Given the description of an element on the screen output the (x, y) to click on. 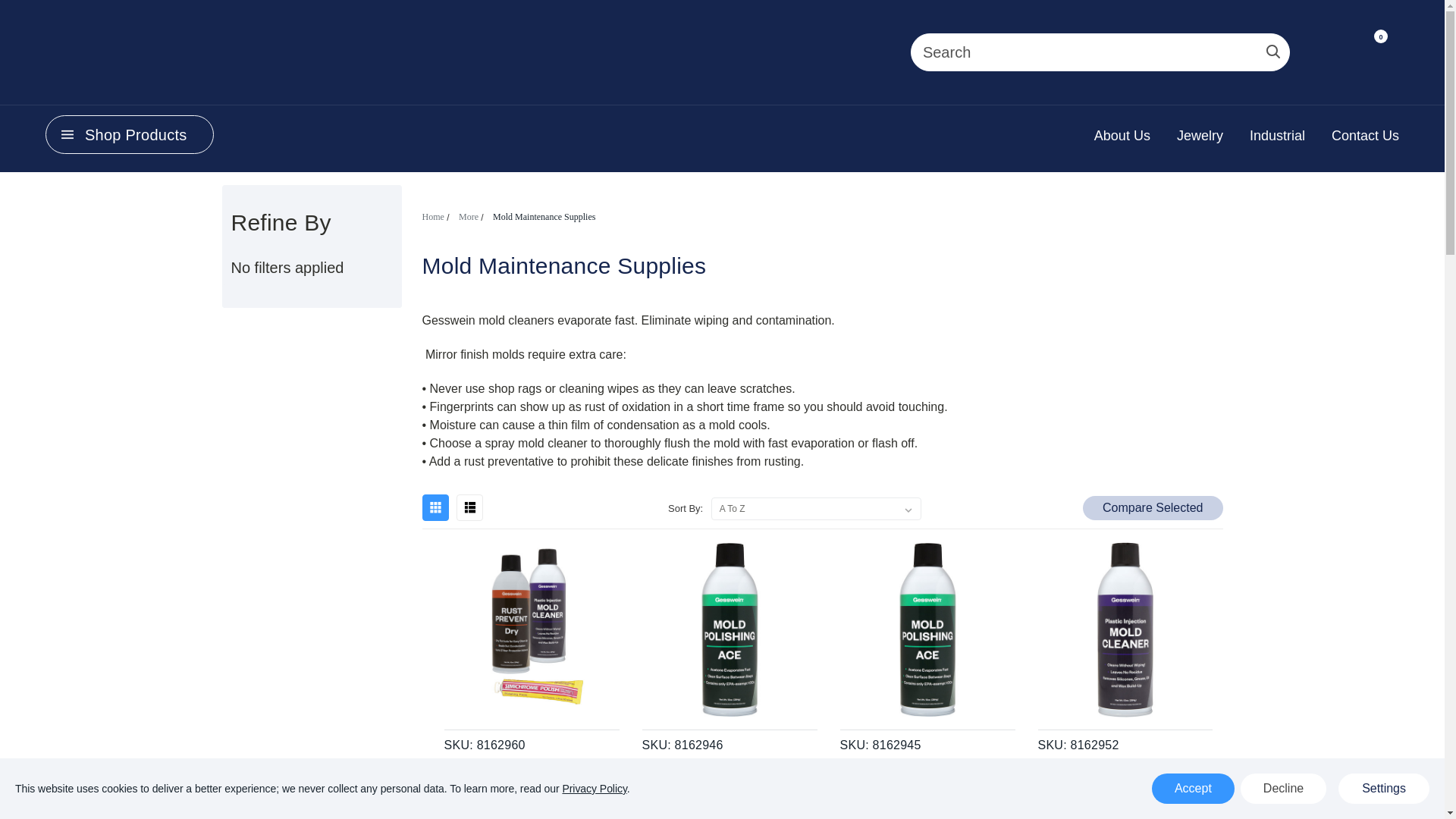
Account (1318, 54)
Cart (1373, 54)
0 (1373, 54)
